Given the description of an element on the screen output the (x, y) to click on. 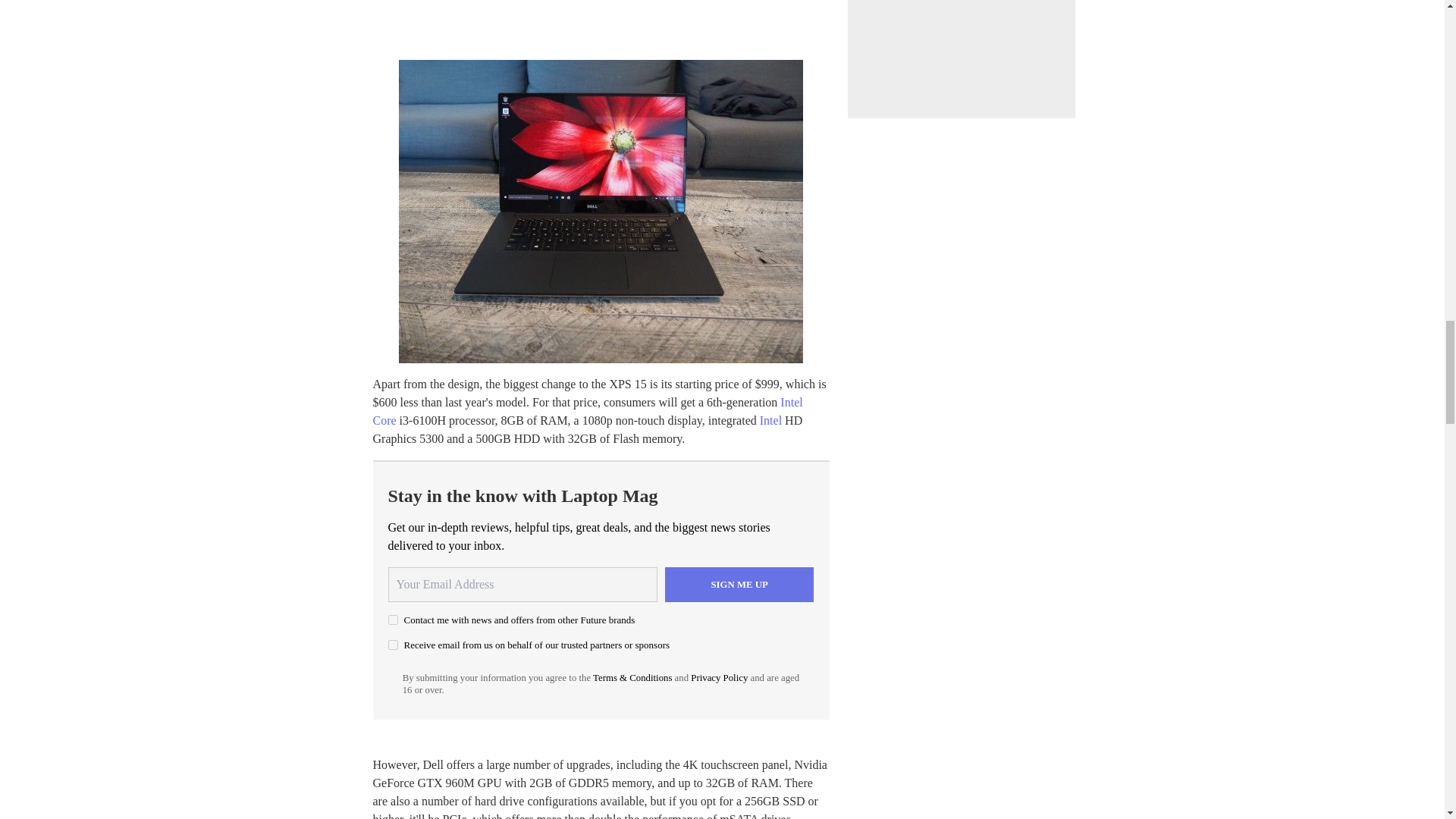
on (392, 619)
Sign me up (739, 584)
on (392, 644)
